Given the description of an element on the screen output the (x, y) to click on. 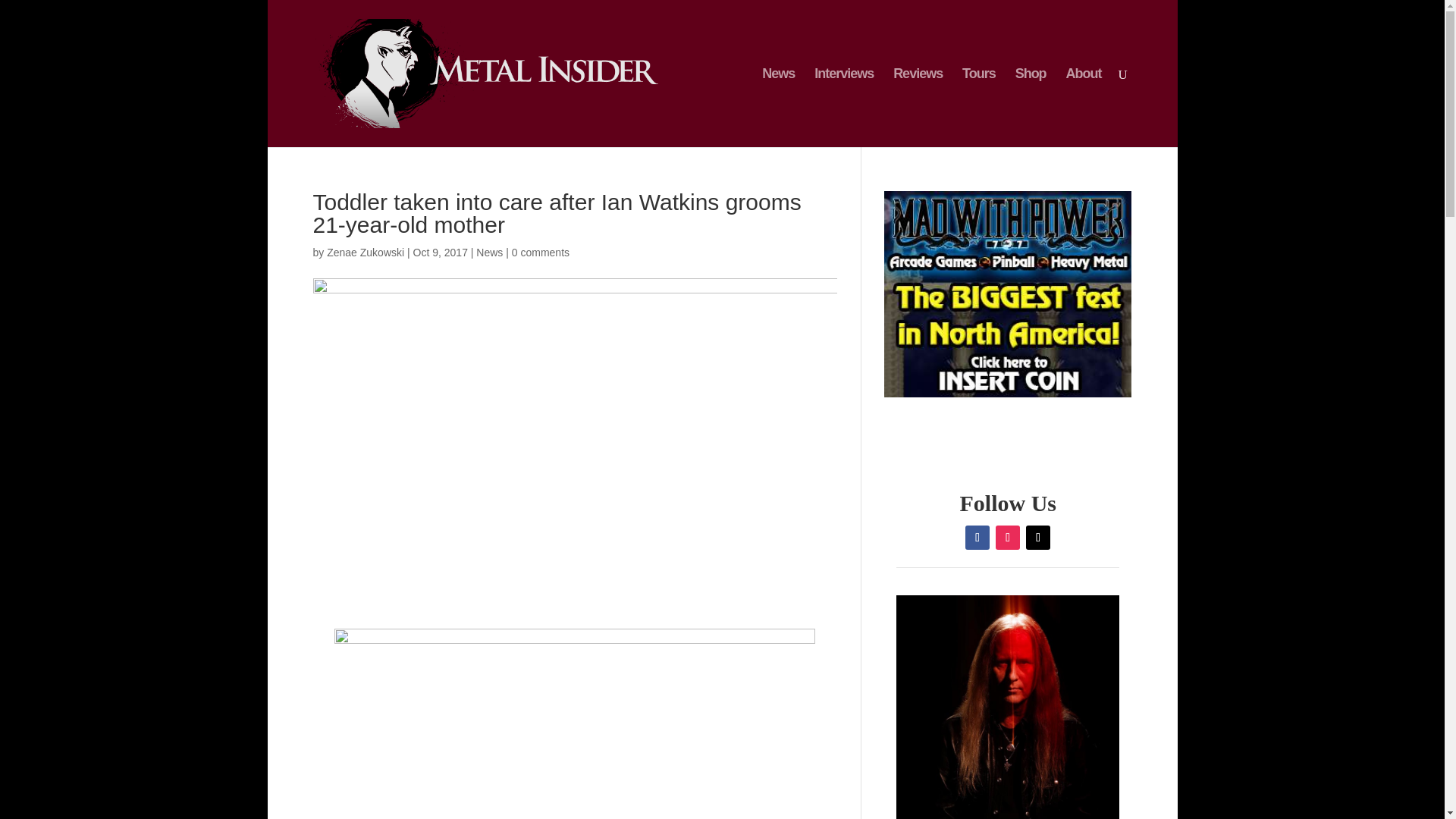
0 comments (540, 252)
Follow on Facebook (977, 537)
Follow on Instagram (1007, 537)
News (489, 252)
Posts by Zenae Zukowski (365, 252)
Follow on X (1037, 537)
Zenae Zukowski (365, 252)
